Given the description of an element on the screen output the (x, y) to click on. 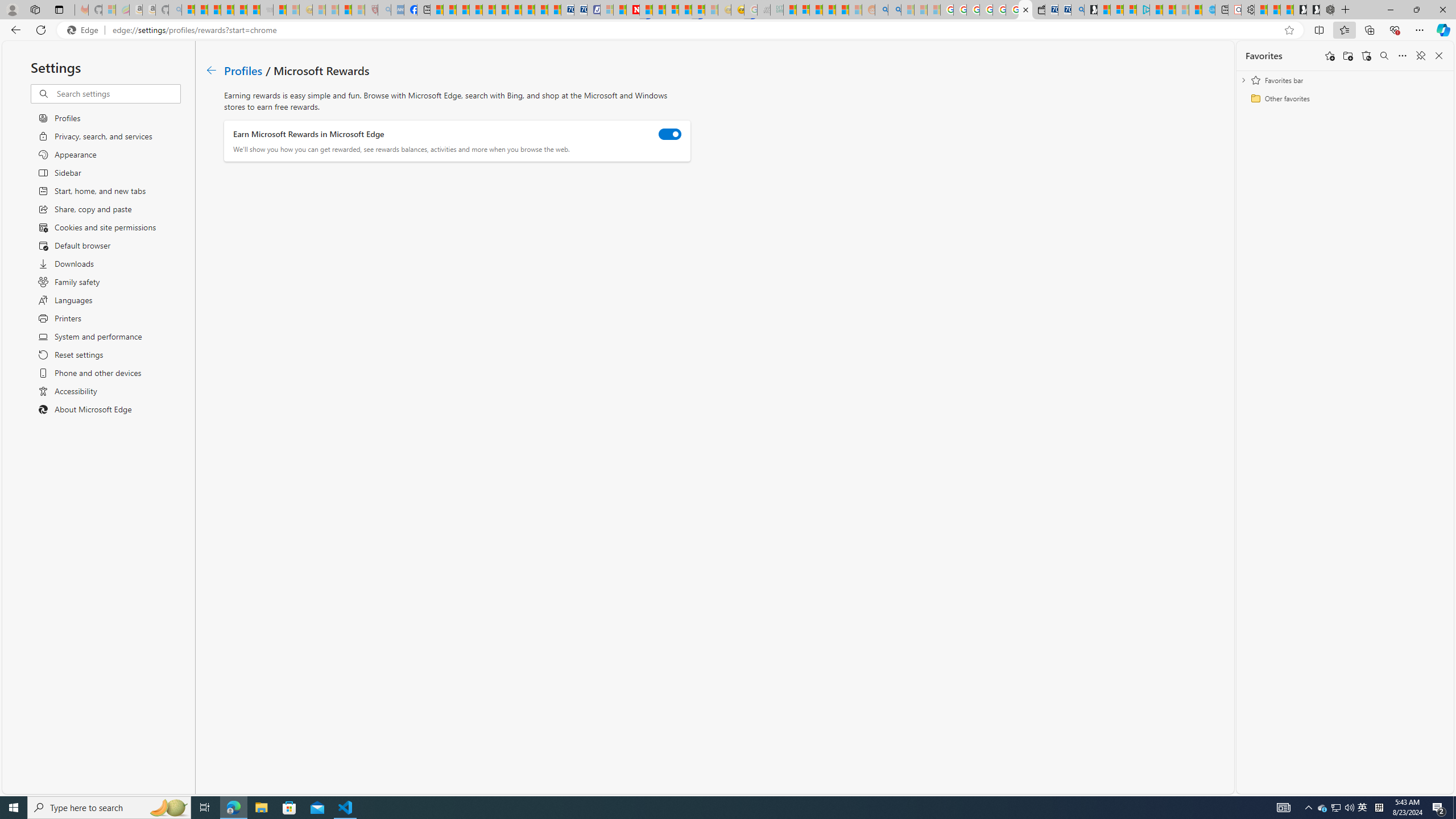
Class: c01179 (210, 70)
Utah sues federal government - Search (894, 9)
Search favorites (1383, 55)
Restore deleted favorites (1366, 55)
Wallet (1037, 9)
Cheap Car Rentals - Save70.com (1063, 9)
